Given the description of an element on the screen output the (x, y) to click on. 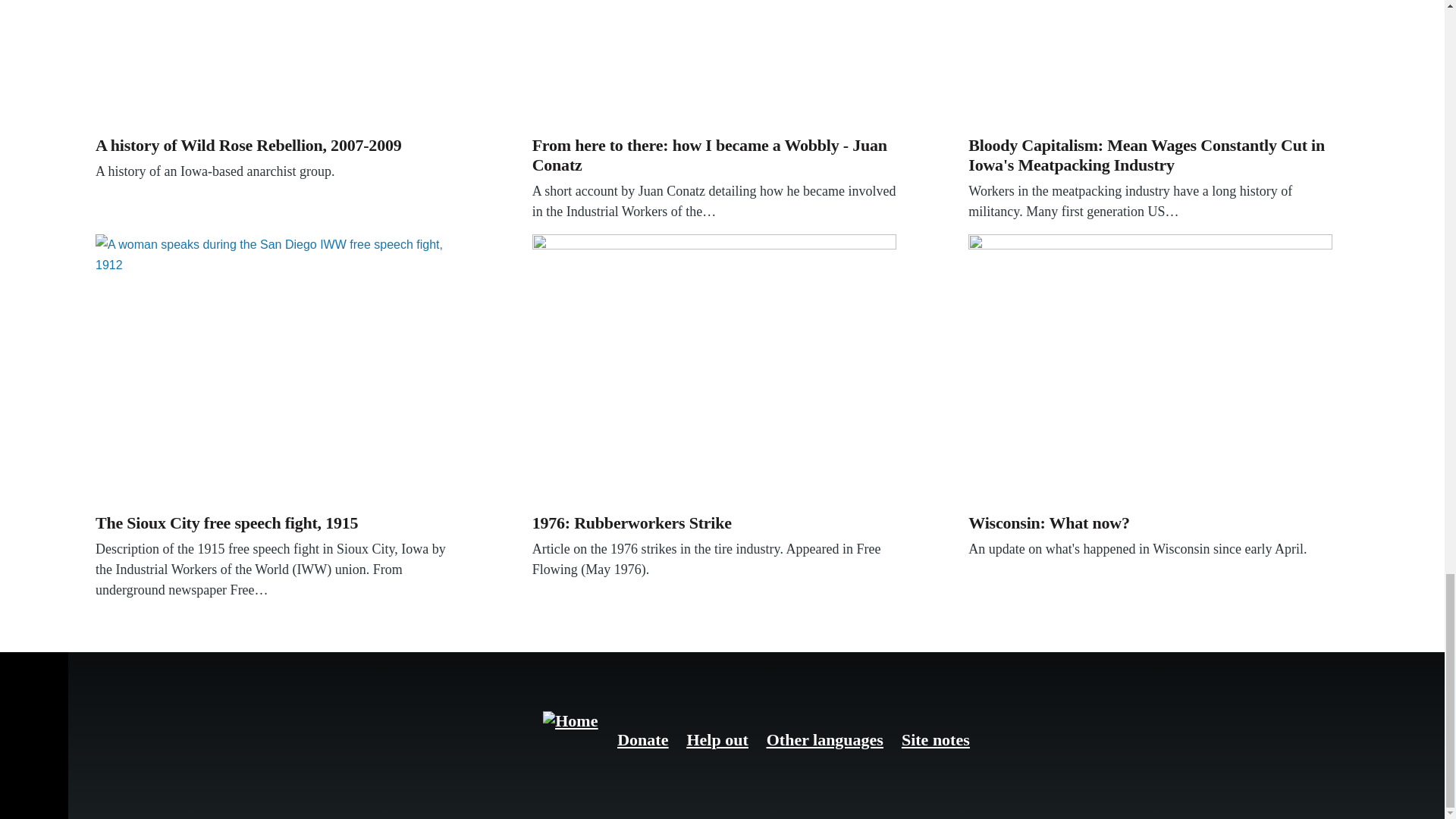
libcom content in languages other than English (825, 739)
